Given the description of an element on the screen output the (x, y) to click on. 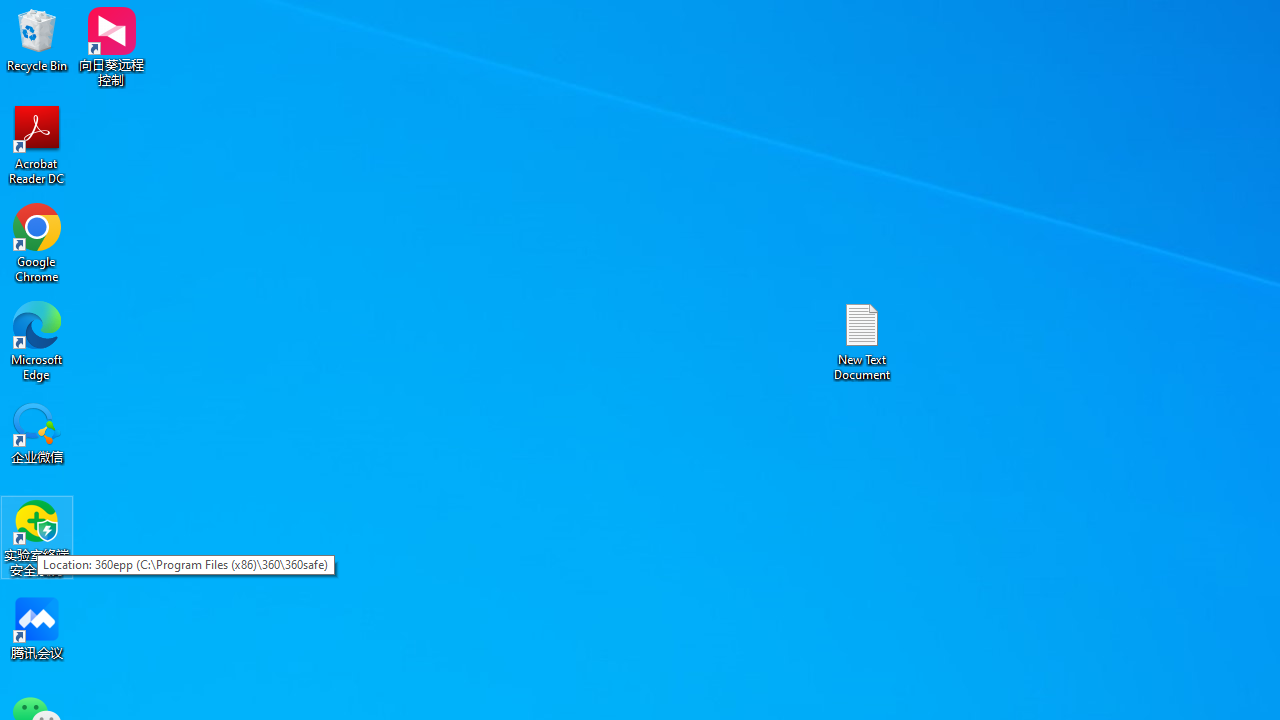
Microsoft Edge (37, 340)
Recycle Bin (37, 39)
Acrobat Reader DC (37, 144)
Google Chrome (37, 242)
New Text Document (861, 340)
